Given the description of an element on the screen output the (x, y) to click on. 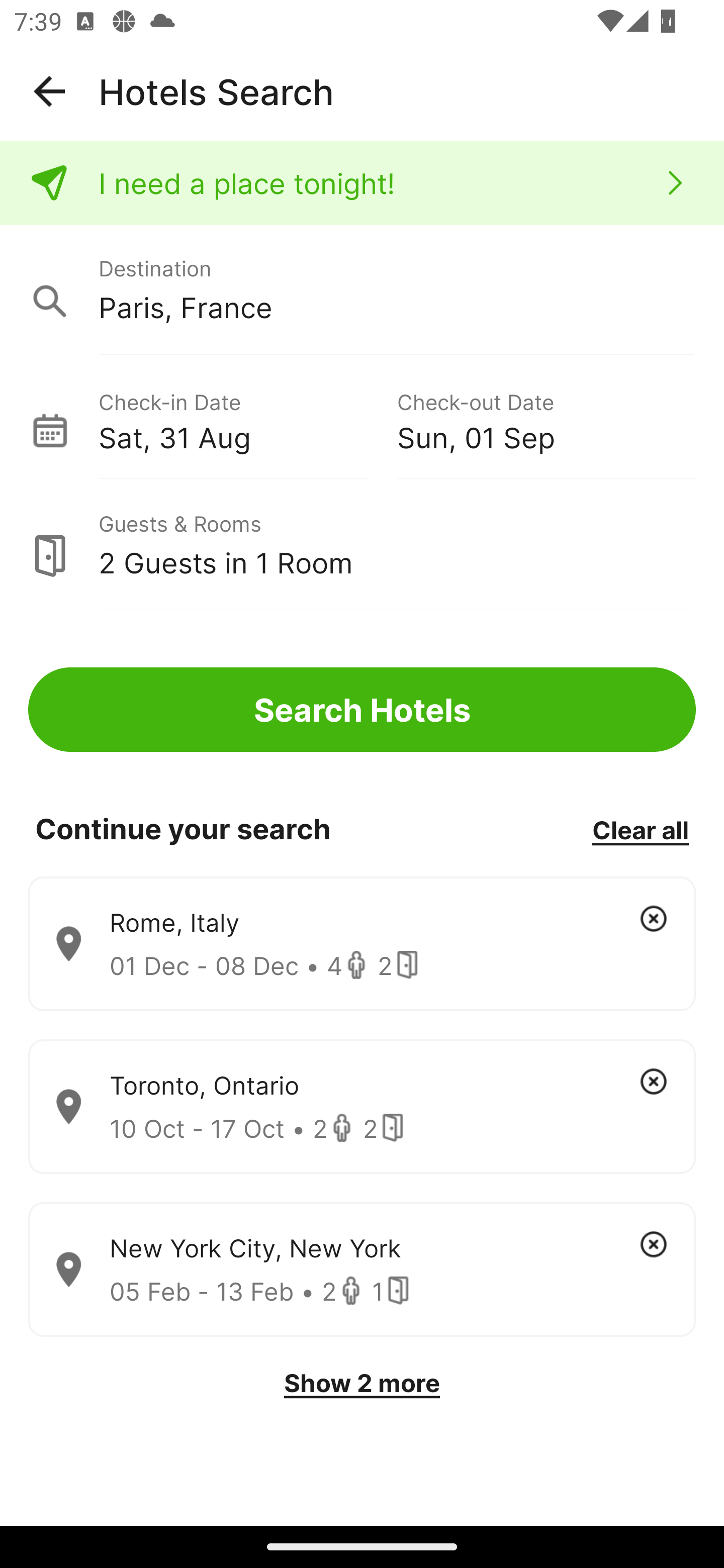
I need a place tonight! (362, 183)
Destination Paris, France (362, 290)
Check-in Date Sat, 31 Aug (247, 418)
Check-out Date Sun, 01 Sep (546, 418)
Guests & Rooms 2 Guests in 1 Room (362, 545)
Search Hotels (361, 709)
Clear all (640, 829)
Rome, Italy 01 Dec - 08 Dec • 4  2  (361, 943)
Toronto, Ontario 10 Oct - 17 Oct • 2  2  (361, 1106)
New York City, New York 05 Feb - 13 Feb • 2  1  (361, 1269)
Show 2 more (362, 1382)
